Given the description of an element on the screen output the (x, y) to click on. 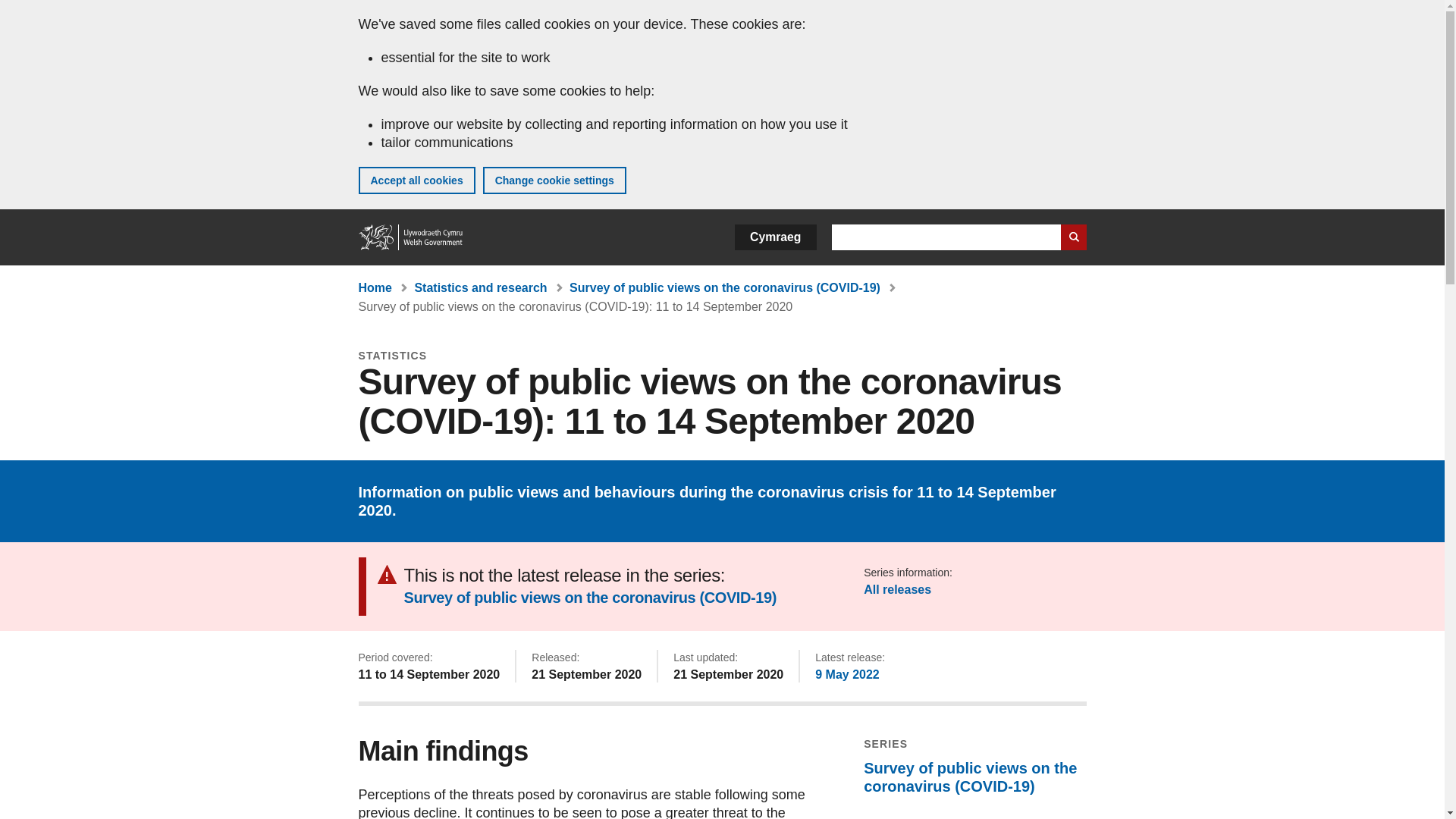
All releases (897, 589)
Cymraeg (775, 237)
9 May 2022 (847, 674)
Skip to main content (22, 11)
Home (411, 237)
Accept all cookies (416, 180)
Welsh Government (411, 237)
Home (374, 287)
Change cookie settings (554, 180)
Search website (1072, 237)
Search website (1072, 237)
Statistics and research (480, 287)
